Given the description of an element on the screen output the (x, y) to click on. 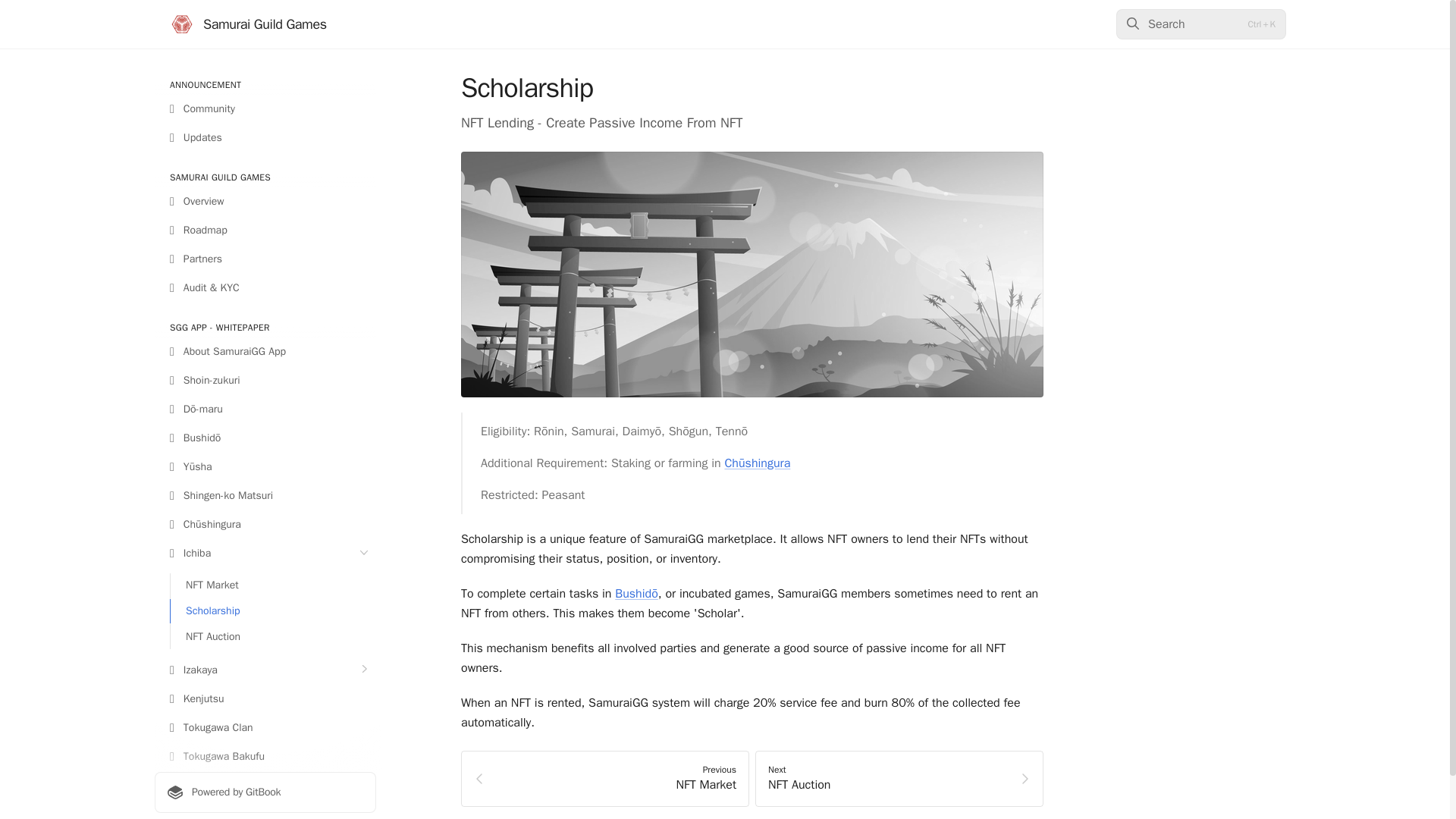
Scholarship (272, 610)
Samurai Guild Games (248, 24)
Powered by GitBook (264, 792)
NFT Market (272, 585)
NFT Auction (272, 636)
